Given the description of an element on the screen output the (x, y) to click on. 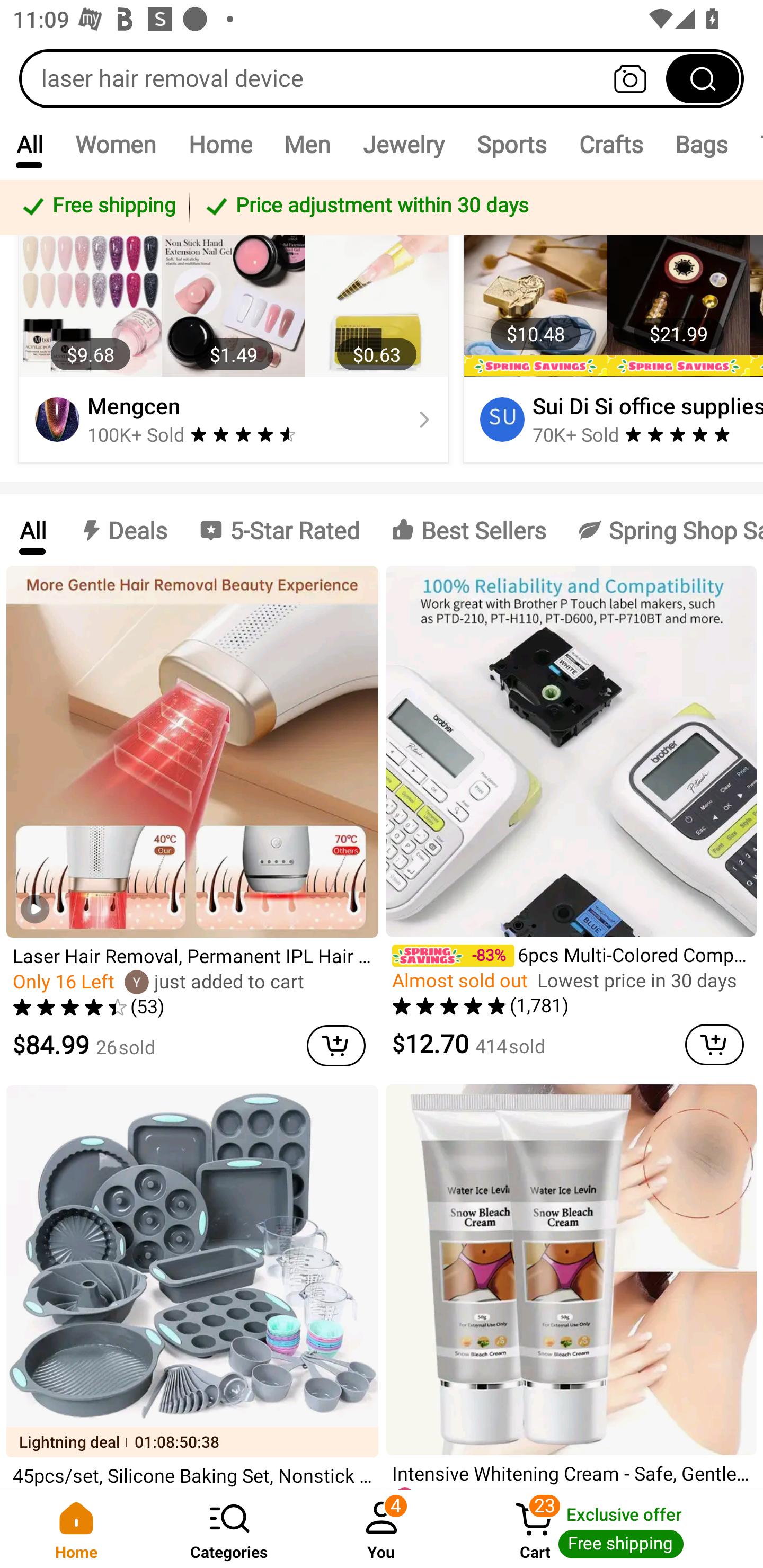
laser hair removal device (381, 78)
All (29, 144)
Women (115, 144)
Home (219, 144)
Men (306, 144)
Jewelry (403, 144)
Sports (511, 144)
Crafts (611, 144)
Bags (701, 144)
Free shipping (97, 206)
Price adjustment within 30 days (472, 206)
$9.68 $1.49 $0.63 Mengcen 100K+ Sold (233, 347)
$10.48 $21.99 Sui Di Si office supplies 70K+ Sold (610, 347)
All (32, 529)
Deals Deals Deals (122, 529)
5-Star Rated 5-Star Rated 5-Star Rated (279, 529)
Best Sellers Best Sellers Best Sellers (468, 529)
Spring Shop Save Spring Shop Save Spring Shop Save (662, 529)
cart delete (714, 1043)
cart delete (335, 1045)
Home (76, 1528)
Categories (228, 1528)
You 4 You (381, 1528)
Cart 23 Cart Exclusive offer (610, 1528)
